Given the description of an element on the screen output the (x, y) to click on. 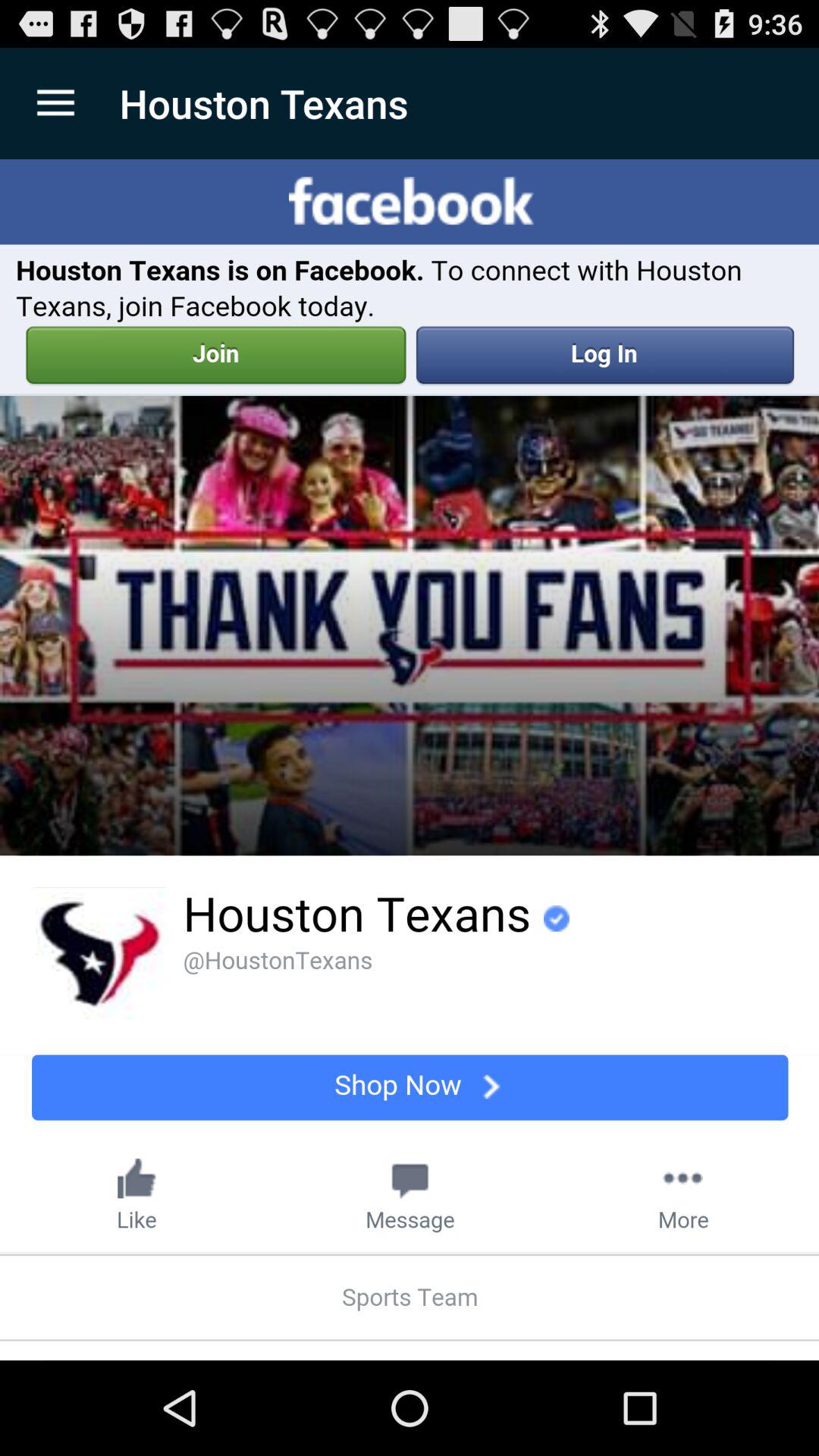
home page of houston texans (409, 759)
